Given the description of an element on the screen output the (x, y) to click on. 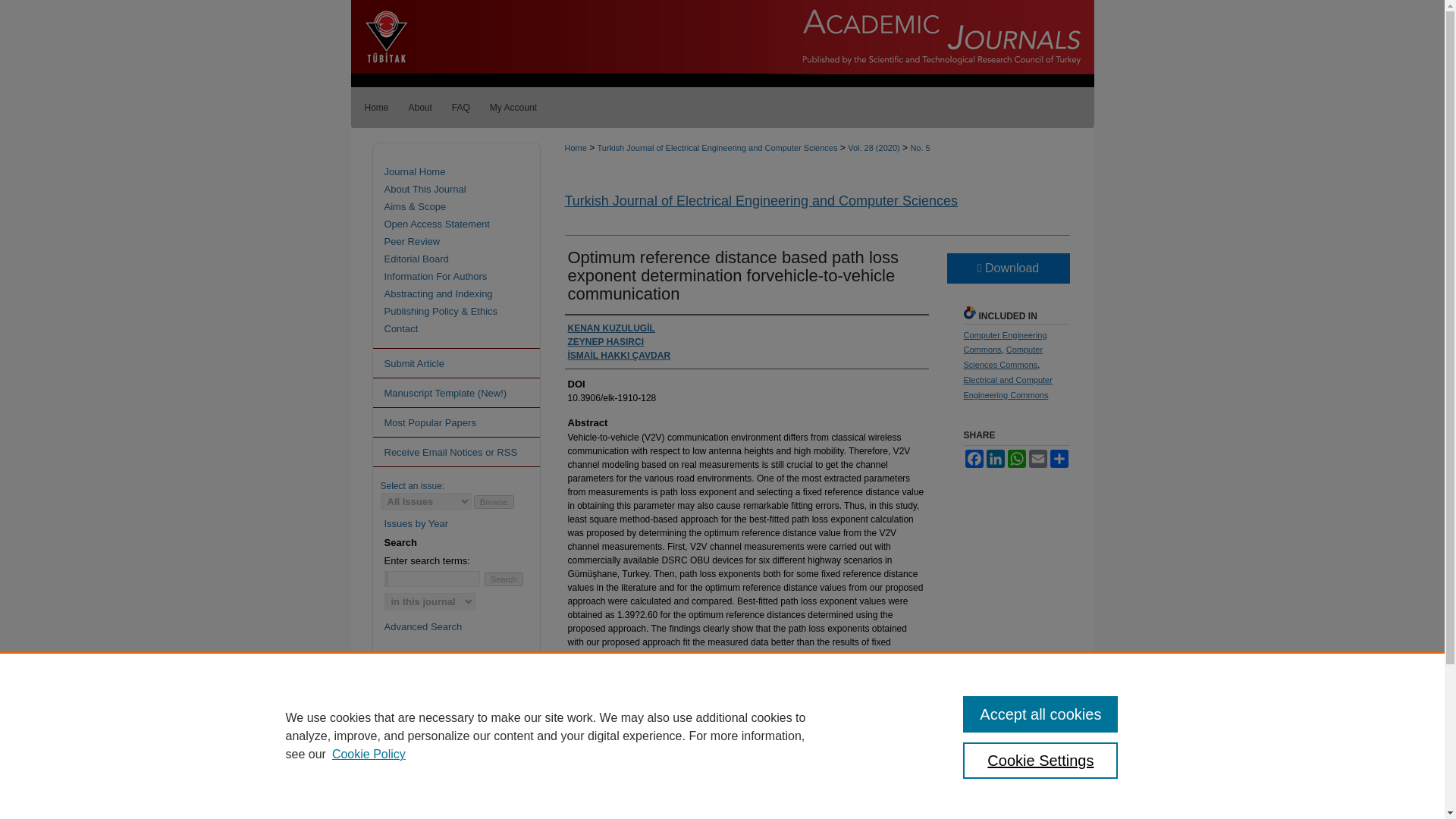
About (420, 106)
LinkedIn (995, 458)
Computer Sciences Commons (1002, 356)
Editorial Board (469, 258)
Share (1058, 458)
Home (575, 147)
Computer Engineering Commons (1004, 342)
Computer Engineering Commons (1004, 342)
My Account (513, 106)
Peer Review (469, 241)
Computer Sciences Commons (1002, 356)
Home (373, 106)
Download (1007, 268)
Email (1037, 458)
